Given the description of an element on the screen output the (x, y) to click on. 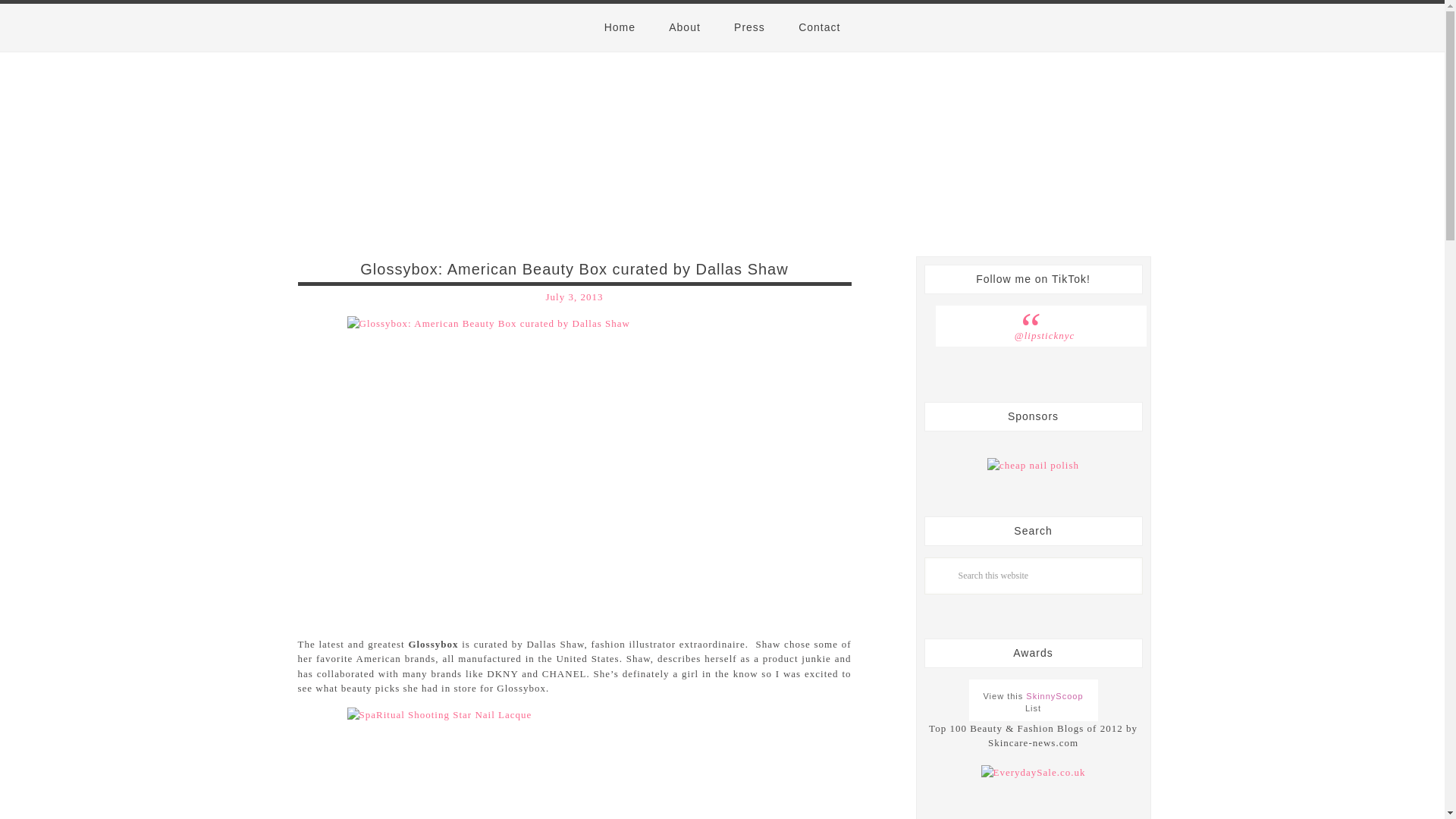
View this SkinnyScoop List (1032, 702)
Press (749, 27)
Glossybox: American Beauty Box curated by Dallas Shaw (573, 269)
Home (619, 27)
Contact (819, 27)
About (684, 27)
DHgate has nail art supplies for sale (1032, 465)
